Given the description of an element on the screen output the (x, y) to click on. 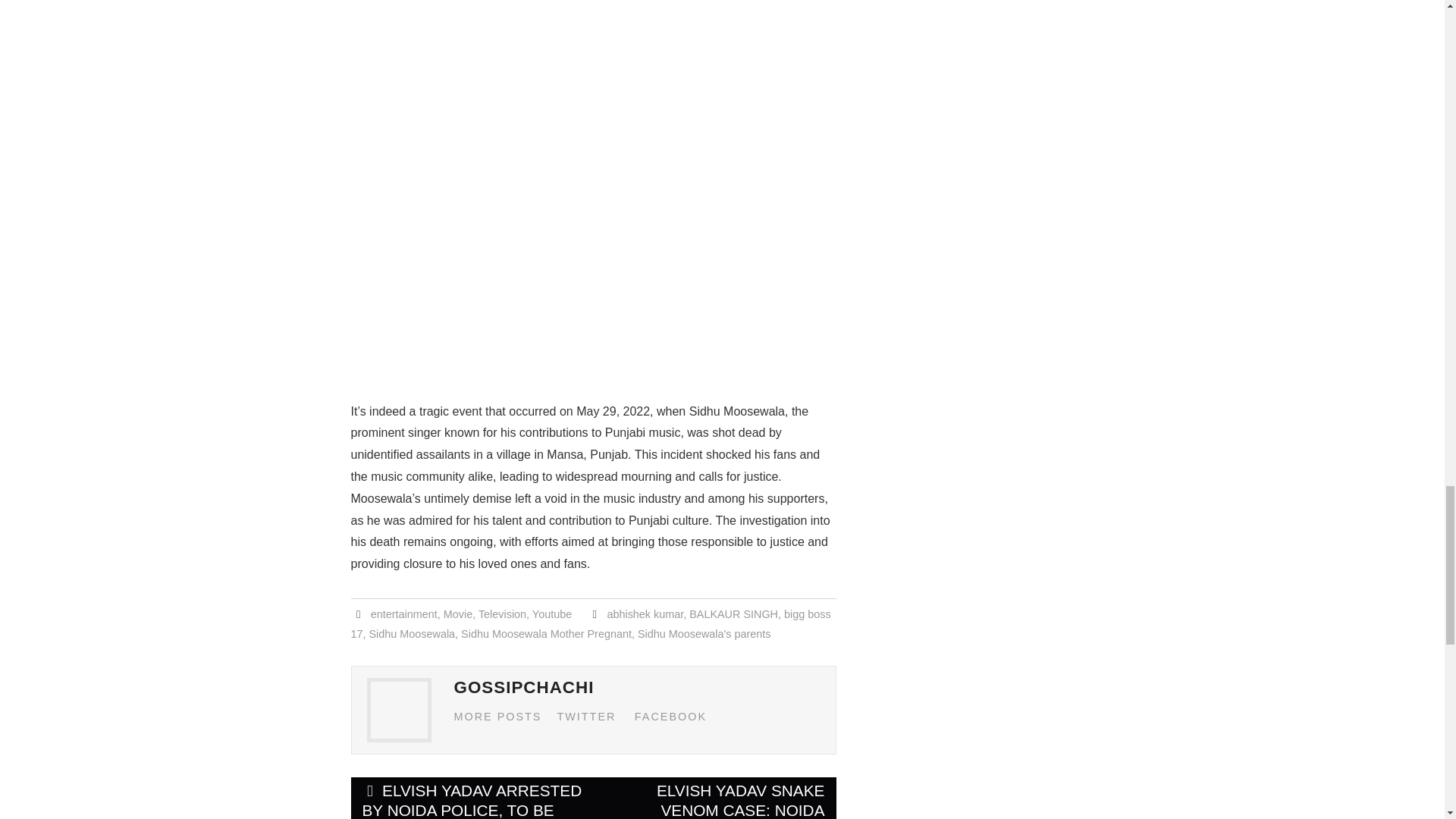
bigg boss 17 (589, 623)
TWITTER (585, 716)
abhishek kumar (644, 613)
Movie (457, 613)
Sidhu Moosewala Mother Pregnant (546, 633)
Sidhu Moosewala (412, 633)
BALKAUR SINGH (732, 613)
entertainment (404, 613)
Youtube (552, 613)
Sidhu Moosewala's parents (704, 633)
FACEBOOK (670, 716)
Television (502, 613)
MORE POSTS (496, 716)
